Given the description of an element on the screen output the (x, y) to click on. 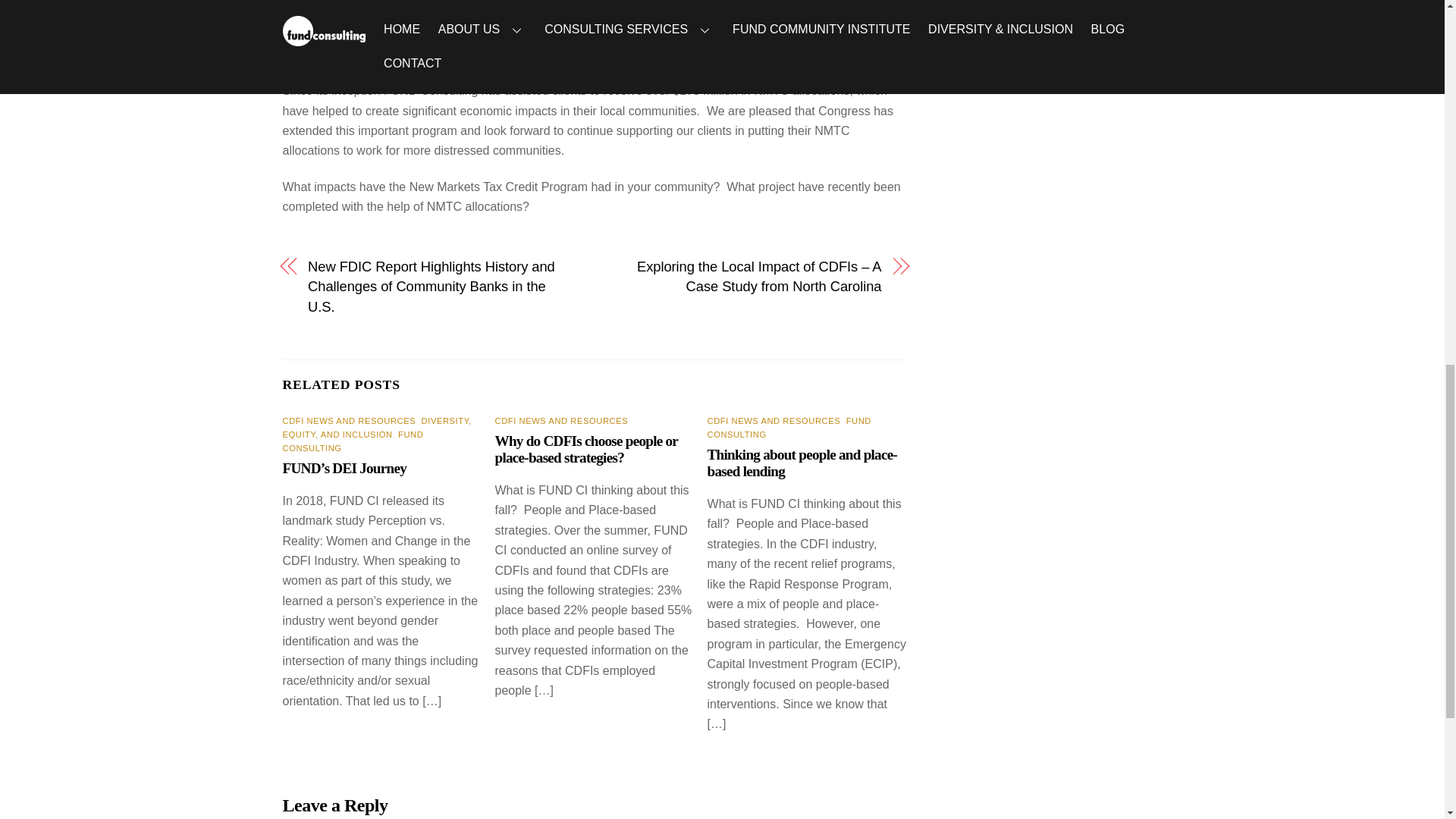
CDFI NEWS AND RESOURCES (348, 420)
